Given the description of an element on the screen output the (x, y) to click on. 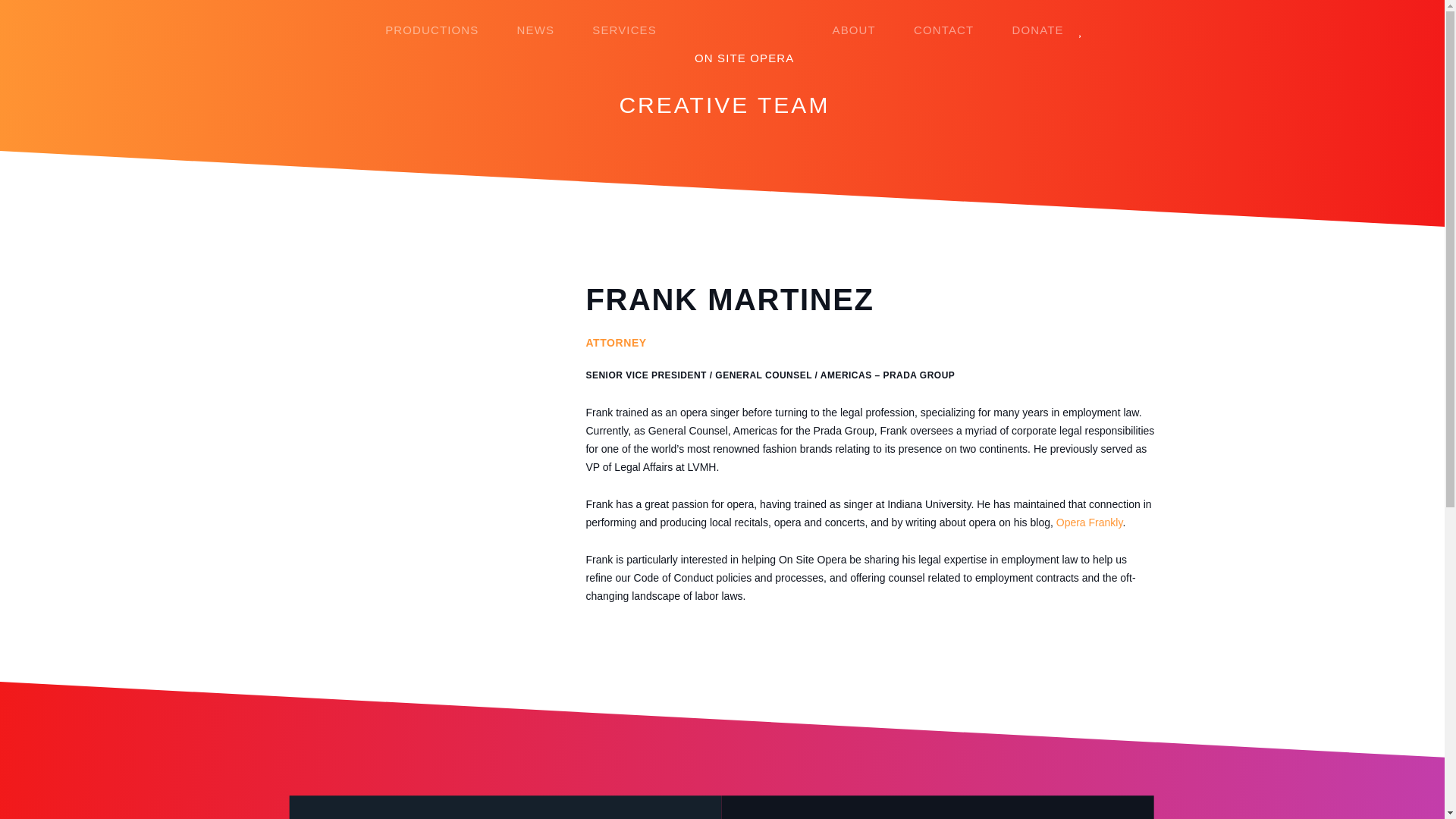
DONATE (1037, 28)
NEWS (536, 28)
Opera Frankly (1089, 522)
PRODUCTIONS (431, 28)
ABOUT (853, 28)
SERVICES (623, 28)
CONTACT (943, 28)
ON SITE OPERA (744, 29)
